Given the description of an element on the screen output the (x, y) to click on. 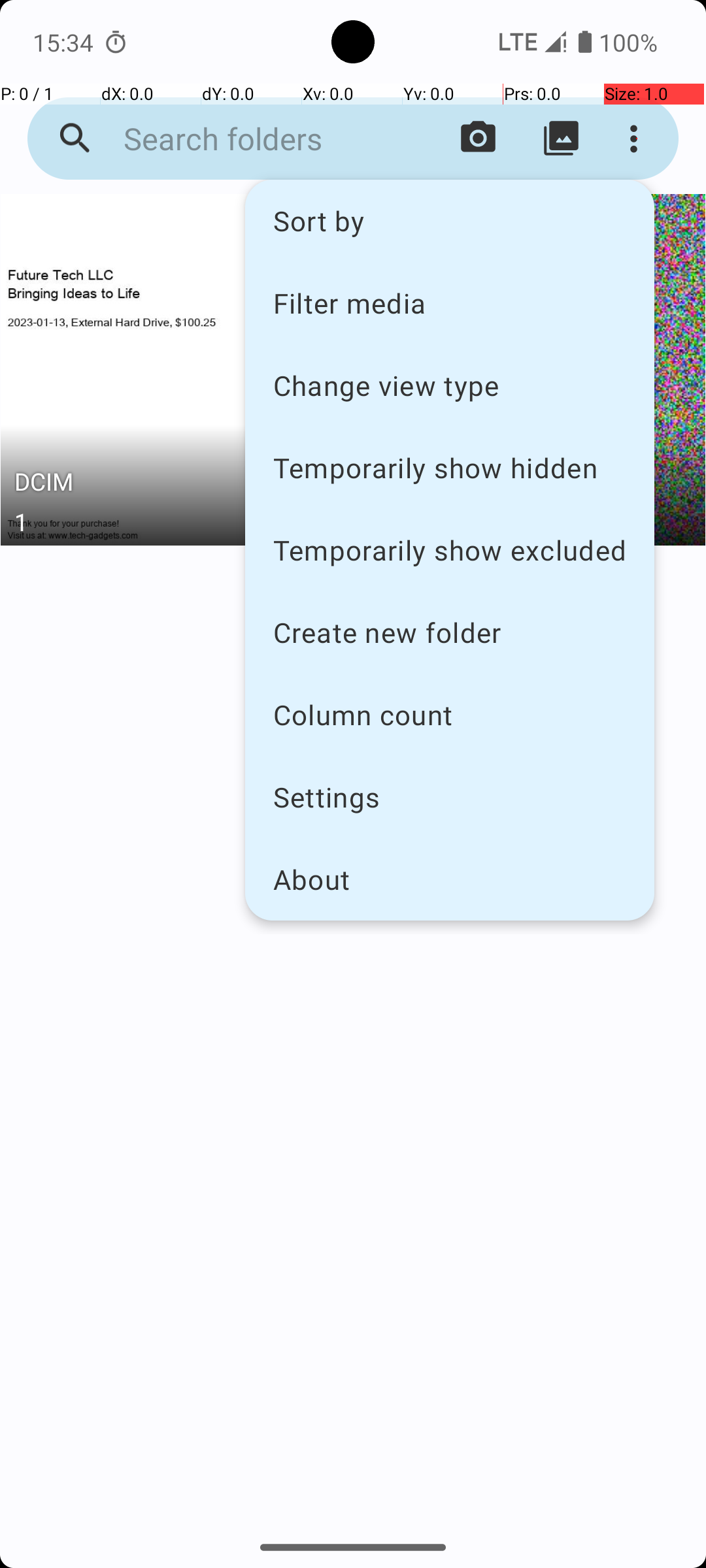
Filter media Element type: android.widget.TextView (449, 302)
Change view type Element type: android.widget.TextView (449, 384)
Temporarily show hidden Element type: android.widget.TextView (449, 467)
Temporarily show excluded Element type: android.widget.TextView (449, 549)
Create new folder Element type: android.widget.TextView (449, 631)
Column count Element type: android.widget.TextView (449, 714)
